Given the description of an element on the screen output the (x, y) to click on. 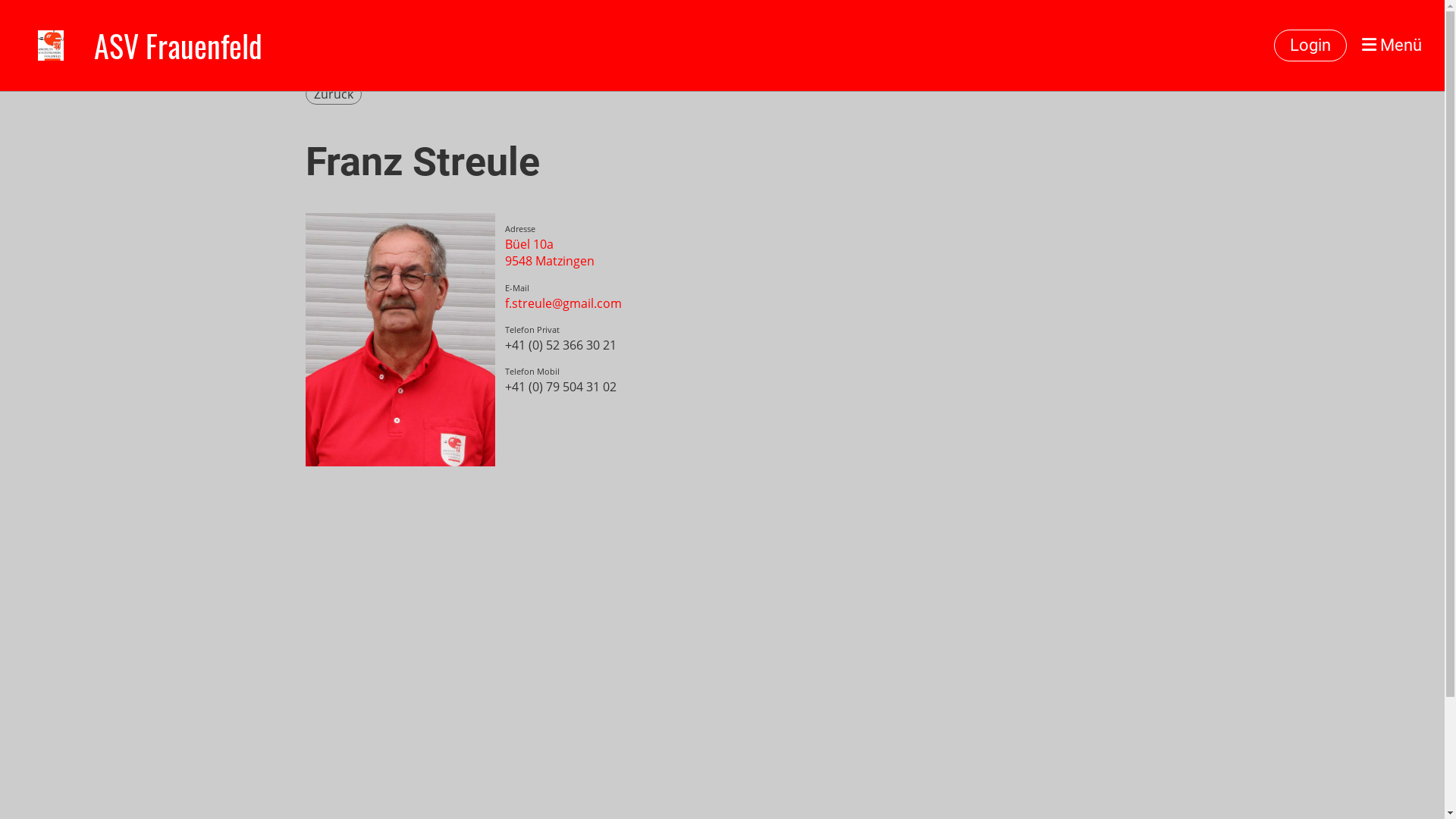
f.streule@gmail.com Element type: text (563, 302)
Login Element type: text (1310, 45)
ASV Frauenfeld Element type: text (178, 45)
